Given the description of an element on the screen output the (x, y) to click on. 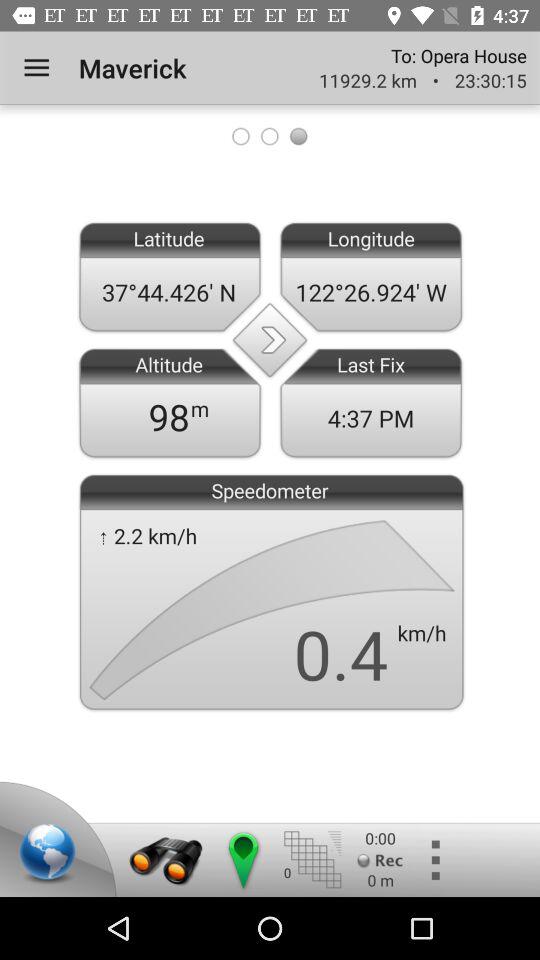
open menu (312, 860)
